Given the description of an element on the screen output the (x, y) to click on. 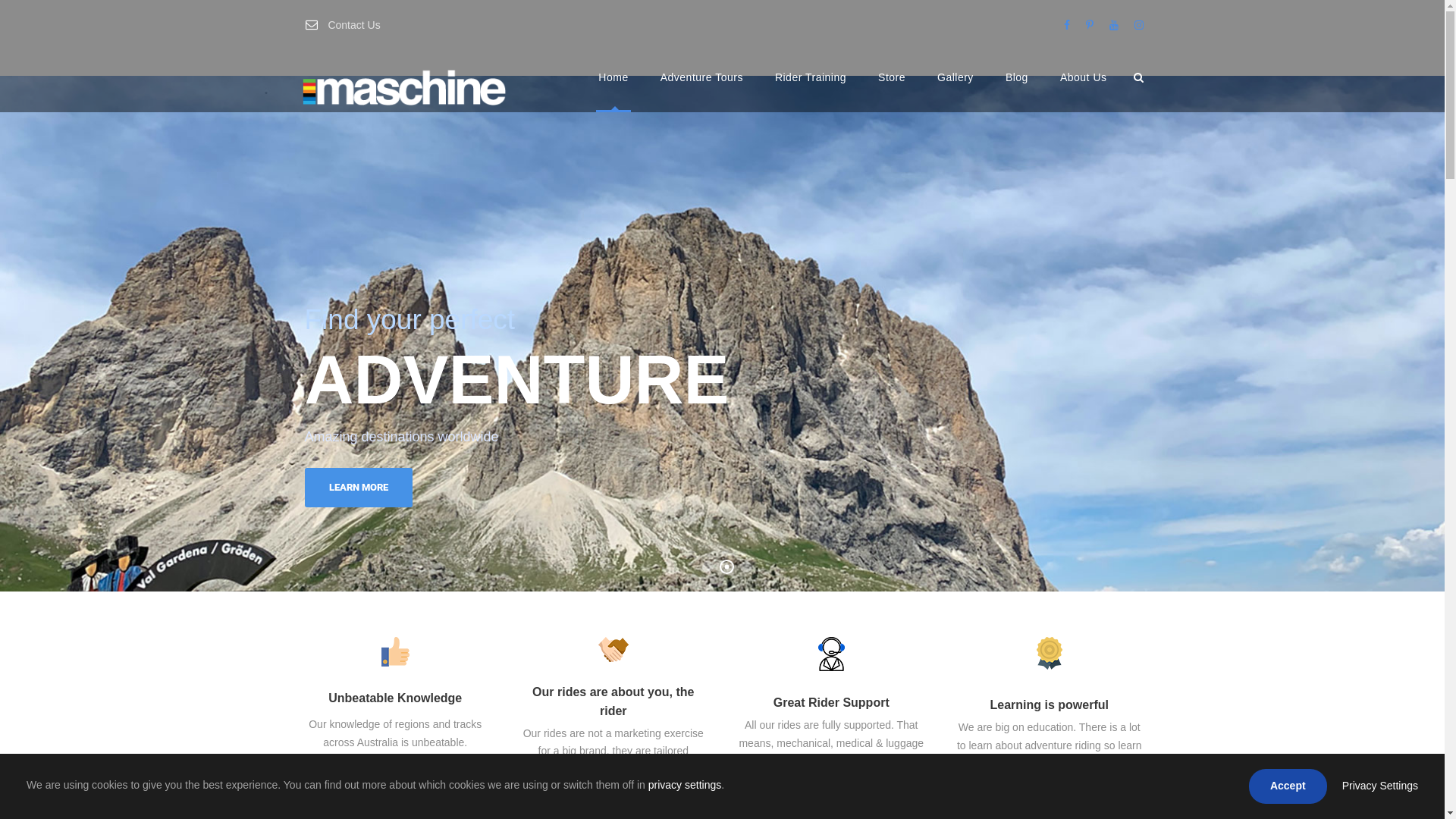
icon-10 Element type: hover (395, 651)
Blog Element type: text (1016, 90)
facebook Element type: hover (1066, 24)
Adventure Tours Element type: text (701, 90)
Privacy Settings Element type: text (1380, 785)
Maschine_site_logo_02062019 Element type: hover (403, 86)
Home Element type: text (612, 90)
youtube Element type: hover (1112, 24)
icon-15 Element type: hover (613, 649)
About Us Element type: text (1083, 90)
icon-11 Element type: hover (1049, 653)
Gallery Element type: text (955, 90)
icon-14 Element type: hover (831, 654)
privacy settings Element type: text (684, 784)
LEARN MORE Element type: text (358, 487)
Store Element type: text (891, 90)
instagram Element type: hover (1138, 24)
pinterest Element type: hover (1089, 24)
Accept Element type: text (1287, 785)
Rider Training Element type: text (810, 90)
